Given the description of an element on the screen output the (x, y) to click on. 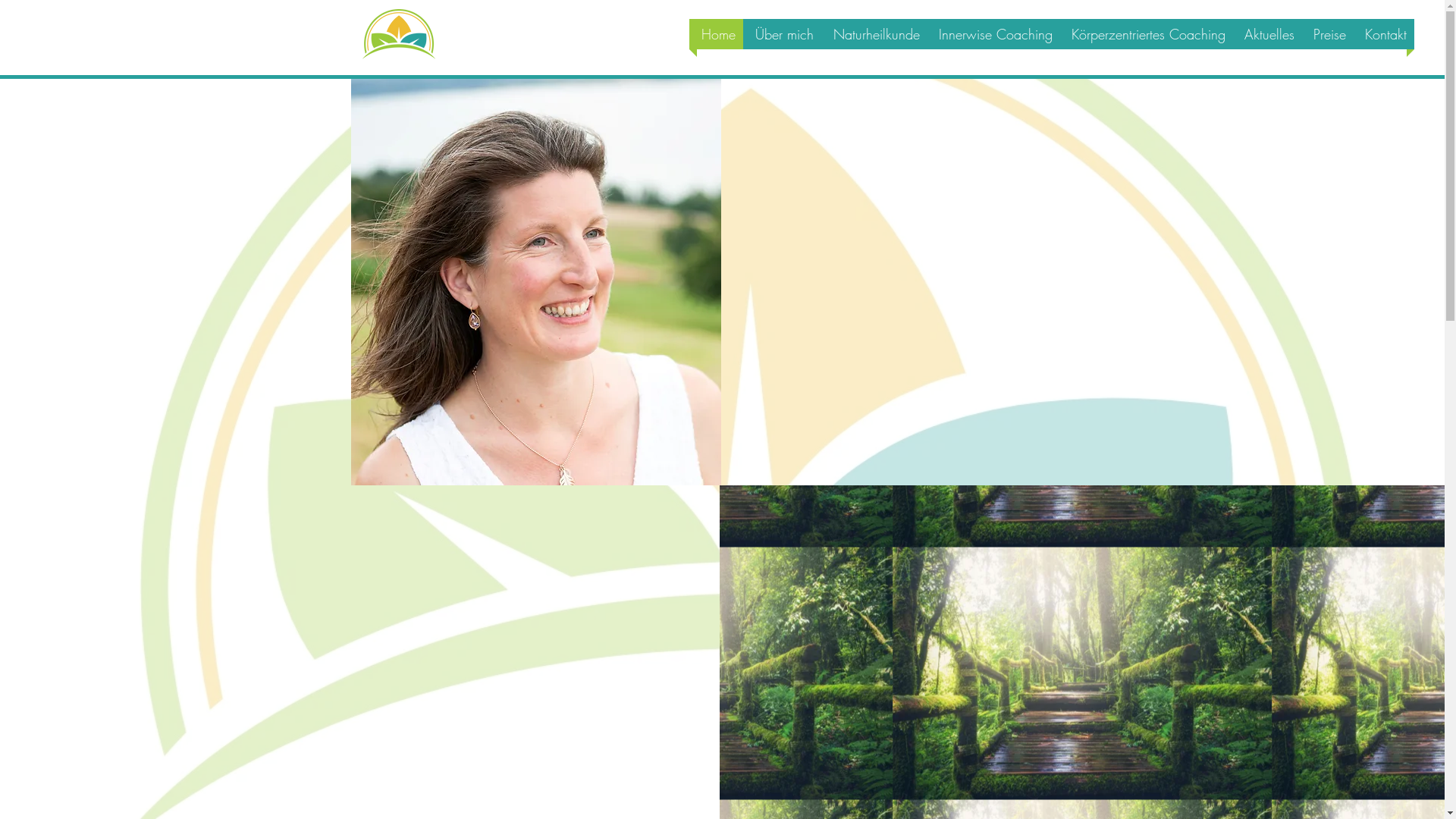
Naturheilkunde Element type: text (874, 33)
Home Element type: text (716, 33)
Aktuelles Element type: text (1267, 33)
Innerwise Coaching Element type: text (993, 33)
Preise Element type: text (1327, 33)
Kontakt Element type: text (1383, 33)
